Given the description of an element on the screen output the (x, y) to click on. 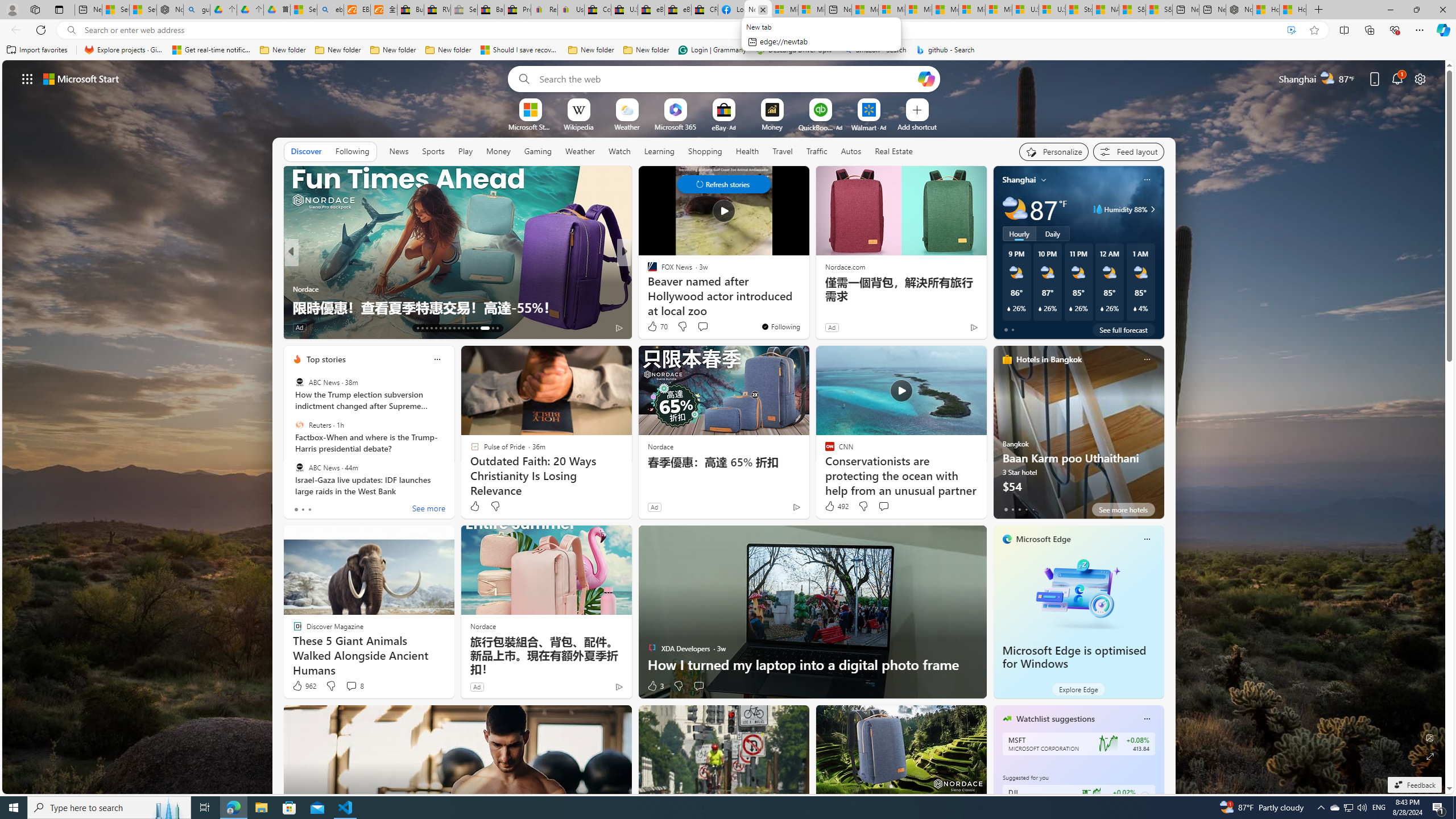
Real Estate (893, 151)
Hotels in Bangkok (1048, 359)
AutomationID: tab-15 (426, 328)
Weather (580, 151)
Travel (782, 151)
App bar (728, 29)
Sports (432, 151)
AutomationID: tab-16 (431, 328)
News (398, 151)
Login | Grammarly (712, 49)
